Given the description of an element on the screen output the (x, y) to click on. 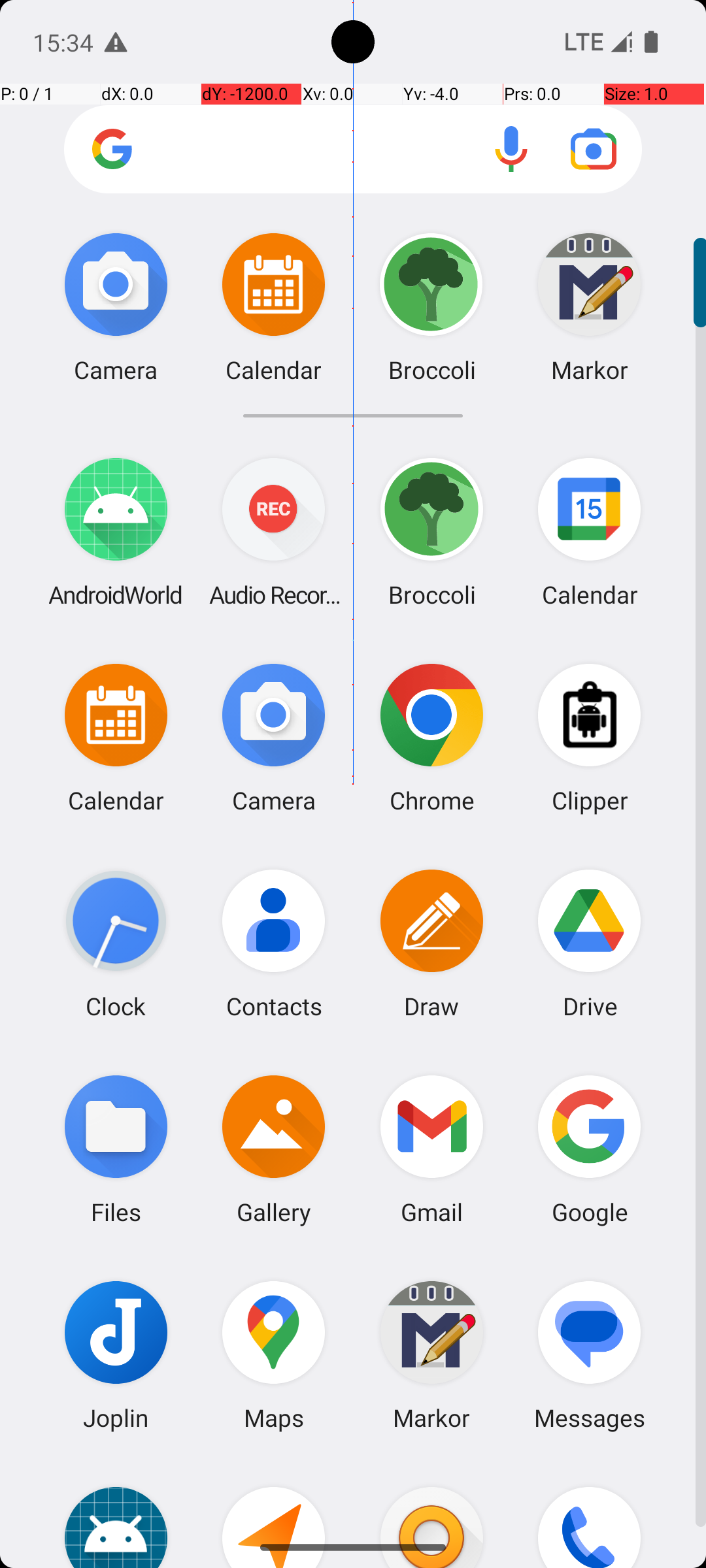
Google app Element type: android.widget.ImageView (112, 148)
Search apps, web and more Element type: android.widget.EditText (352, 148)
Voice search Element type: android.widget.ImageView (511, 148)
Google Lens Element type: android.widget.ImageButton (593, 148)
AndroidWorld Element type: android.widget.TextView (115, 531)
Broccoli Element type: android.widget.TextView (431, 531)
Calendar Element type: android.widget.TextView (589, 531)
Camera Element type: android.widget.TextView (273, 737)
Chrome Element type: android.widget.TextView (431, 737)
Clipper Element type: android.widget.TextView (589, 737)
Clock Element type: android.widget.TextView (115, 942)
Contacts Element type: android.widget.TextView (273, 942)
Draw Element type: android.widget.TextView (431, 942)
Drive Element type: android.widget.TextView (589, 942)
Files Element type: android.widget.TextView (115, 1148)
Gallery Element type: android.widget.TextView (273, 1148)
Gmail Element type: android.widget.TextView (431, 1148)
Google Element type: android.widget.TextView (589, 1148)
Joplin Element type: android.widget.TextView (115, 1354)
Maps Element type: android.widget.TextView (273, 1354)
Markor Element type: android.widget.TextView (431, 1354)
Messages Element type: android.widget.TextView (589, 1354)
Miniwob App Element type: android.widget.TextView (115, 1512)
OpenTracks Element type: android.widget.TextView (273, 1512)
OsmAnd Element type: android.widget.TextView (431, 1512)
Phone Element type: android.widget.TextView (589, 1512)
